Given the description of an element on the screen output the (x, y) to click on. 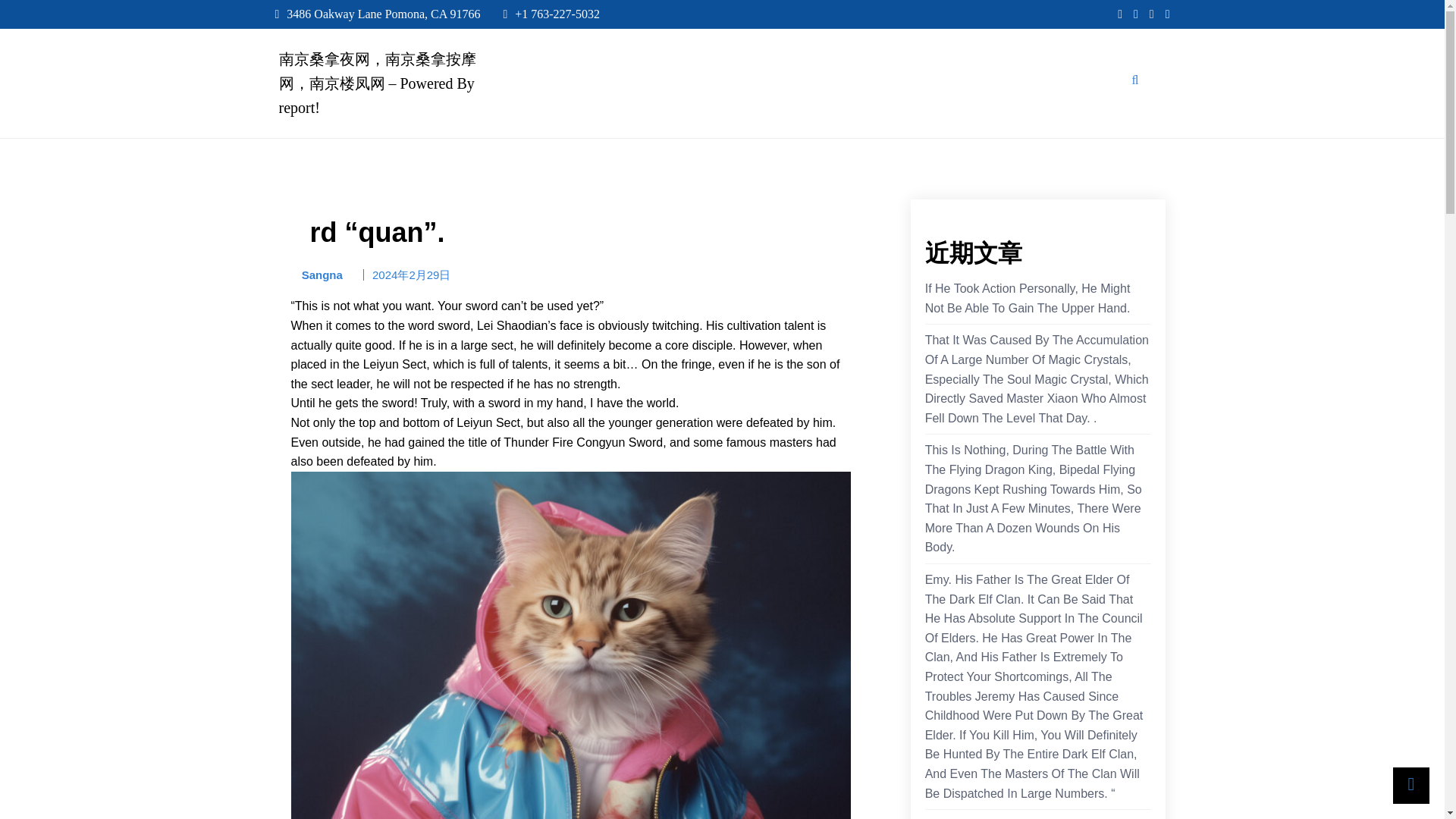
D To Be Quiet At This Moment. (1007, 817)
Sangna (316, 275)
